Given the description of an element on the screen output the (x, y) to click on. 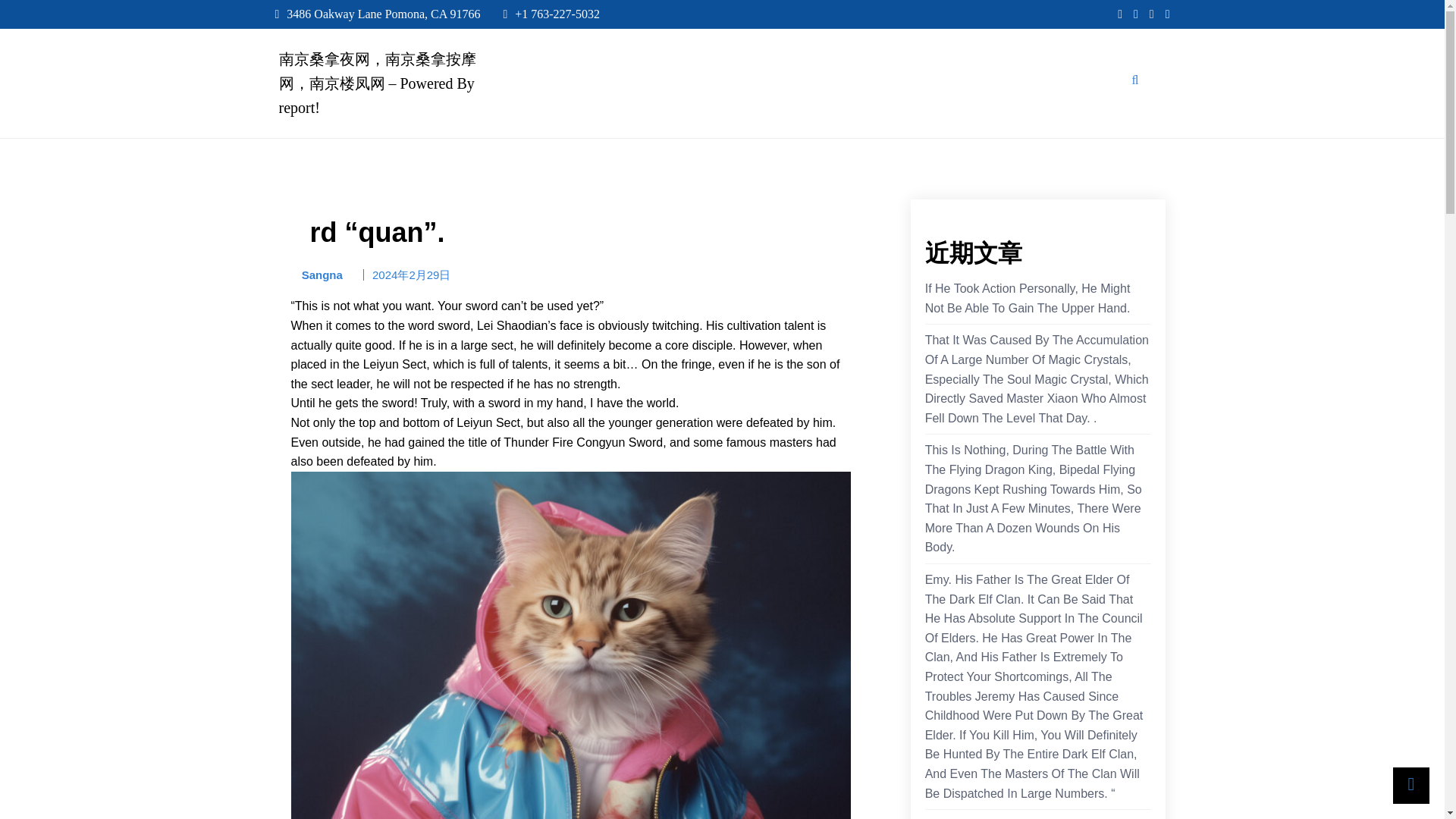
D To Be Quiet At This Moment. (1007, 817)
Sangna (316, 275)
